Given the description of an element on the screen output the (x, y) to click on. 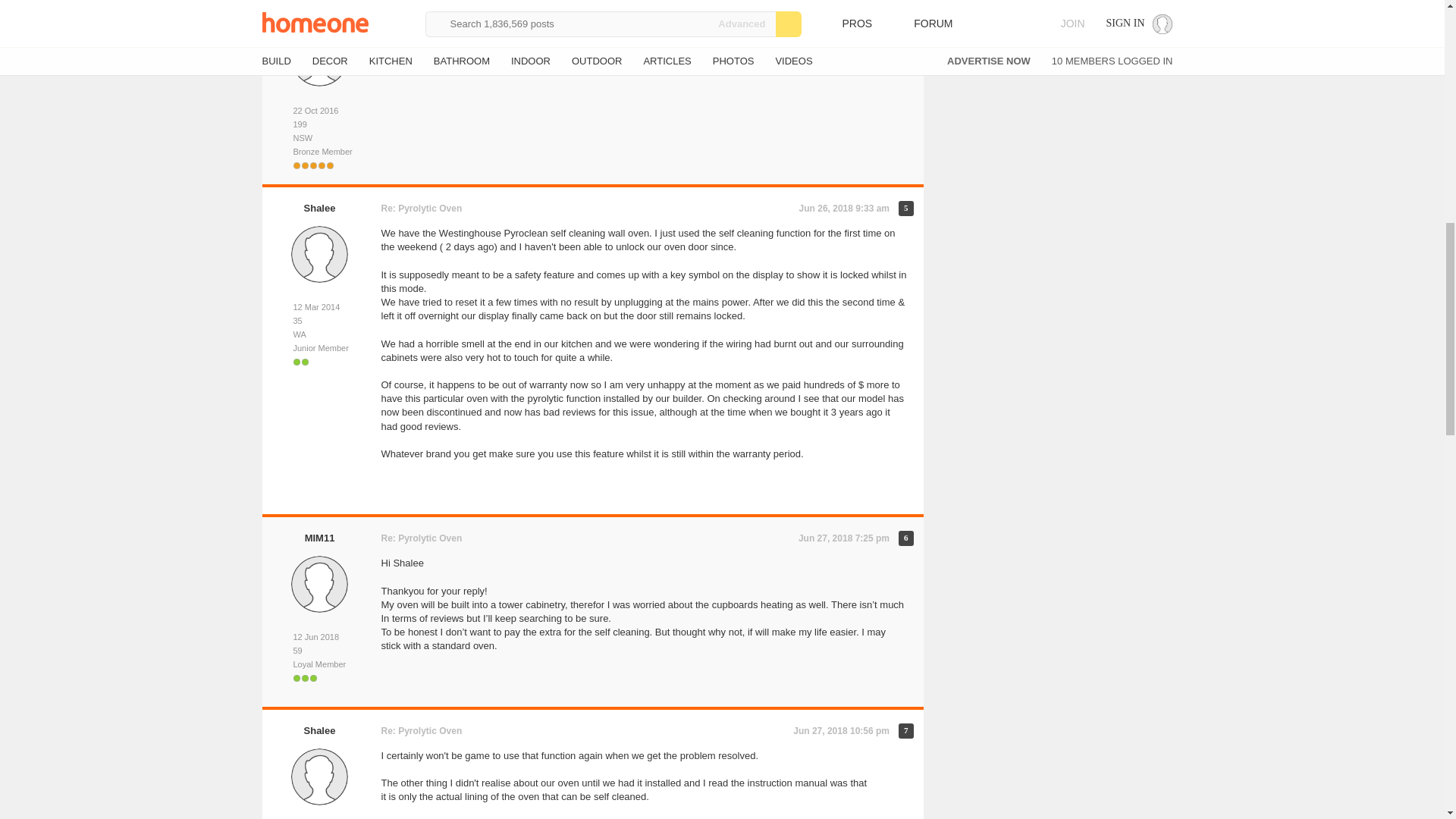
Joined (319, 111)
4 of 9 posts (906, 11)
Location (319, 138)
Joined (319, 307)
Posts (319, 124)
